Given the description of an element on the screen output the (x, y) to click on. 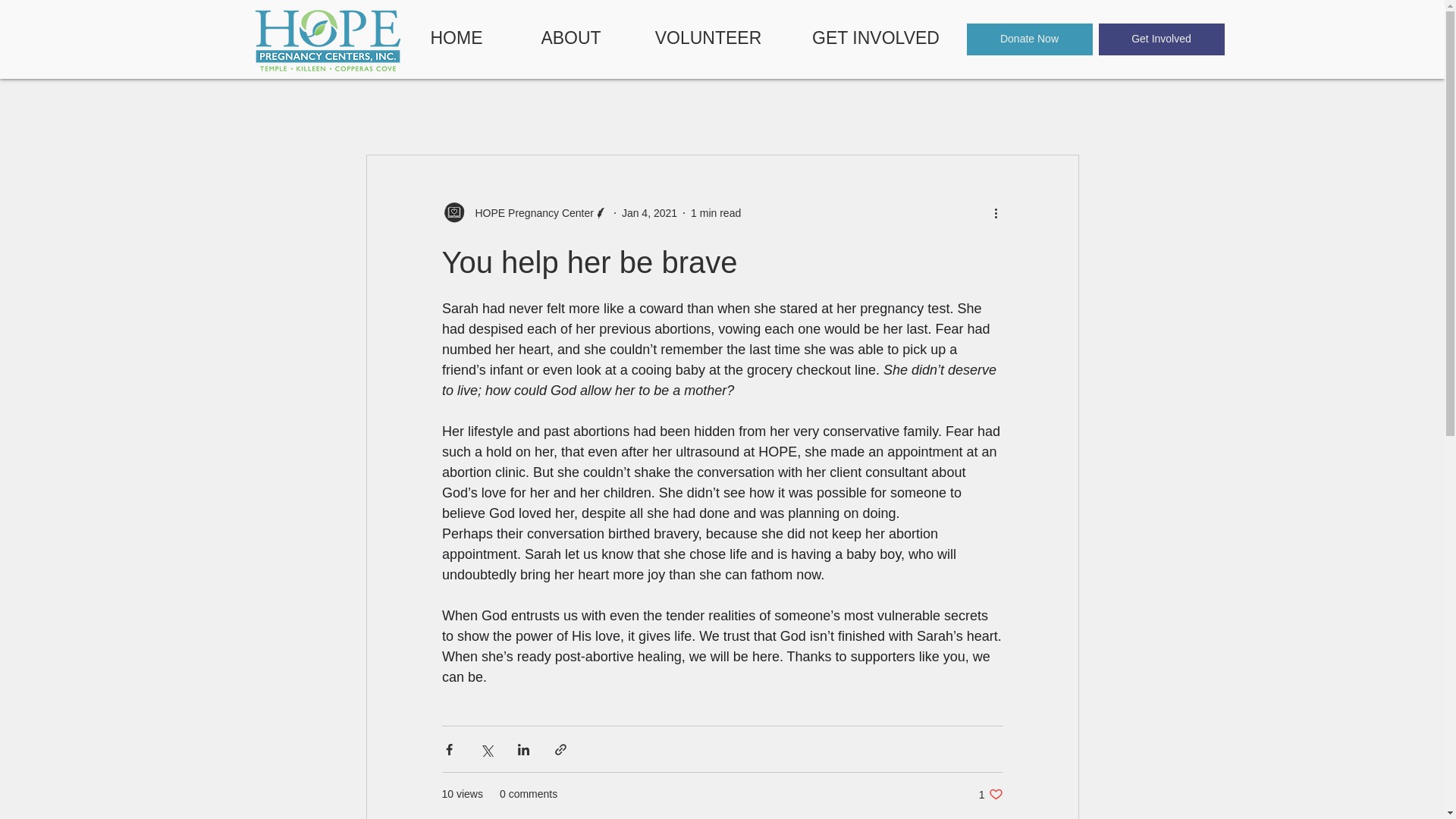
VOLUNTEER (708, 38)
ABOUT (570, 38)
Get Involved (1160, 39)
GET INVOLVED (875, 38)
Jan 4, 2021 (649, 212)
HOPE Pregnancy Center (528, 212)
Donate Now (1029, 39)
1 min read (715, 212)
HOPE Pregnancy Center (524, 212)
